Given the description of an element on the screen output the (x, y) to click on. 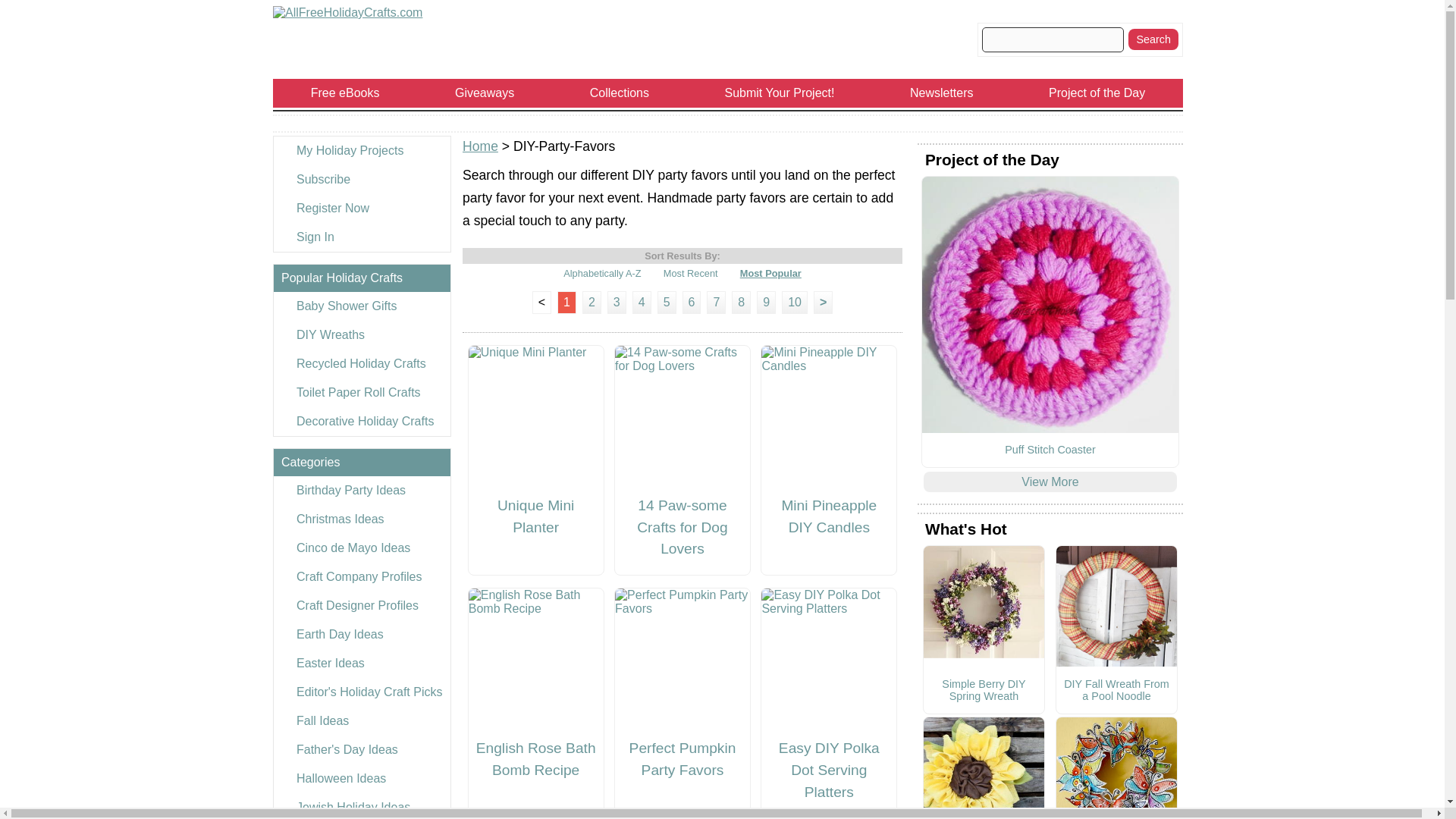
Go to Page 8 (741, 301)
Go to Page 10 (794, 301)
Go to Page 9 (766, 301)
Go to Page 7 (716, 301)
Go to Page 6 (691, 301)
Go to Page 3 (616, 301)
Subscribe (361, 179)
Go to Next Page (822, 301)
Register Now (361, 208)
Sign In (361, 236)
